Given the description of an element on the screen output the (x, y) to click on. 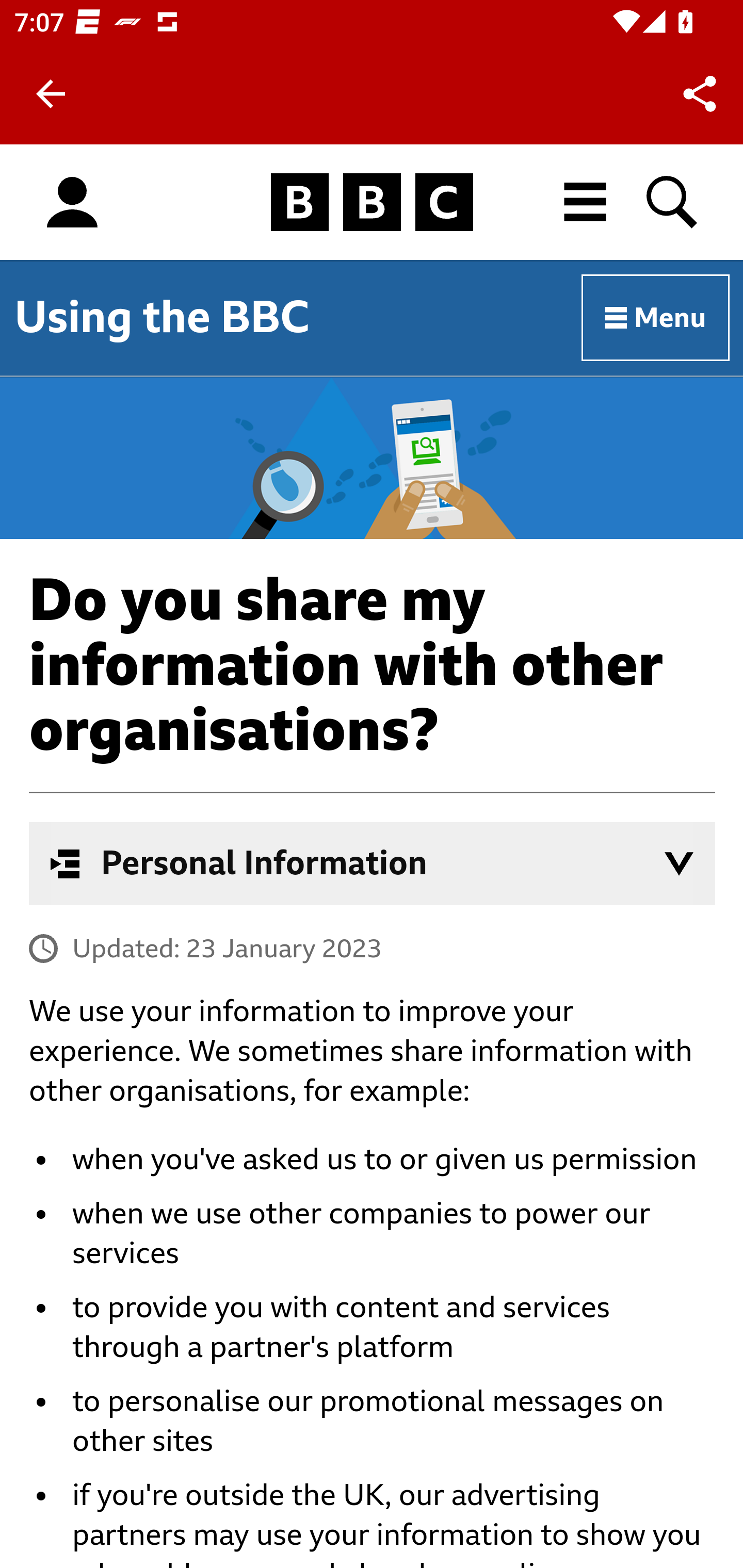
Back (50, 93)
Share (699, 93)
All BBC destinations menu (585, 202)
Search BBC (672, 202)
Sign in (71, 203)
Homepage (371, 203)
Menu (656, 318)
Using the BBC (162, 317)
Personal Information (372, 863)
